Given the description of an element on the screen output the (x, y) to click on. 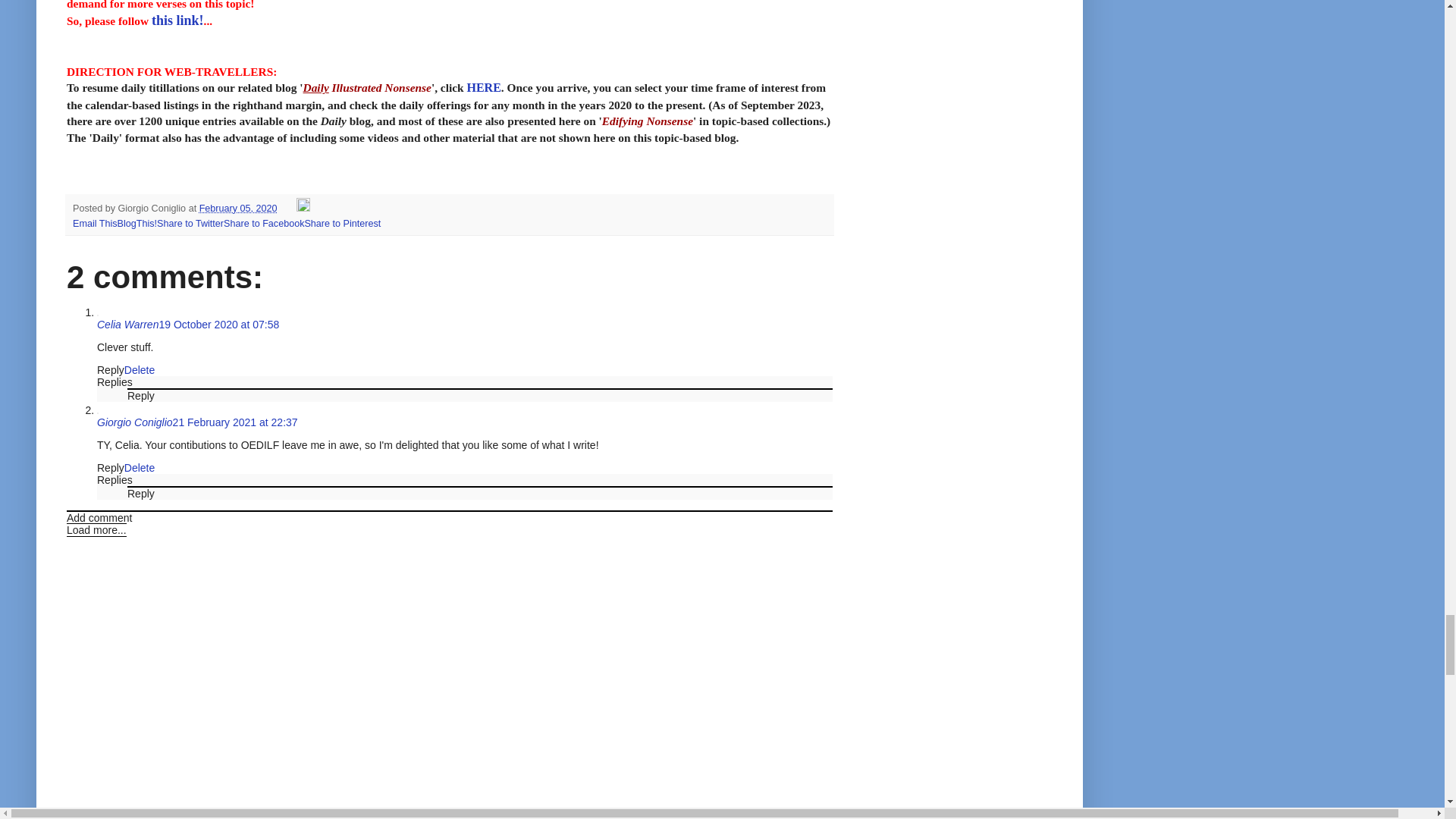
Share to Pinterest (342, 223)
Email This (94, 223)
Share to Twitter (190, 223)
BlogThis! (137, 223)
this link! (177, 20)
Share to Facebook (264, 223)
Email This (94, 223)
Edit Post (303, 208)
HERE (482, 87)
permanent link (238, 208)
BlogThis! (137, 223)
February 05, 2020 (238, 208)
Email Post (288, 208)
